Given the description of an element on the screen output the (x, y) to click on. 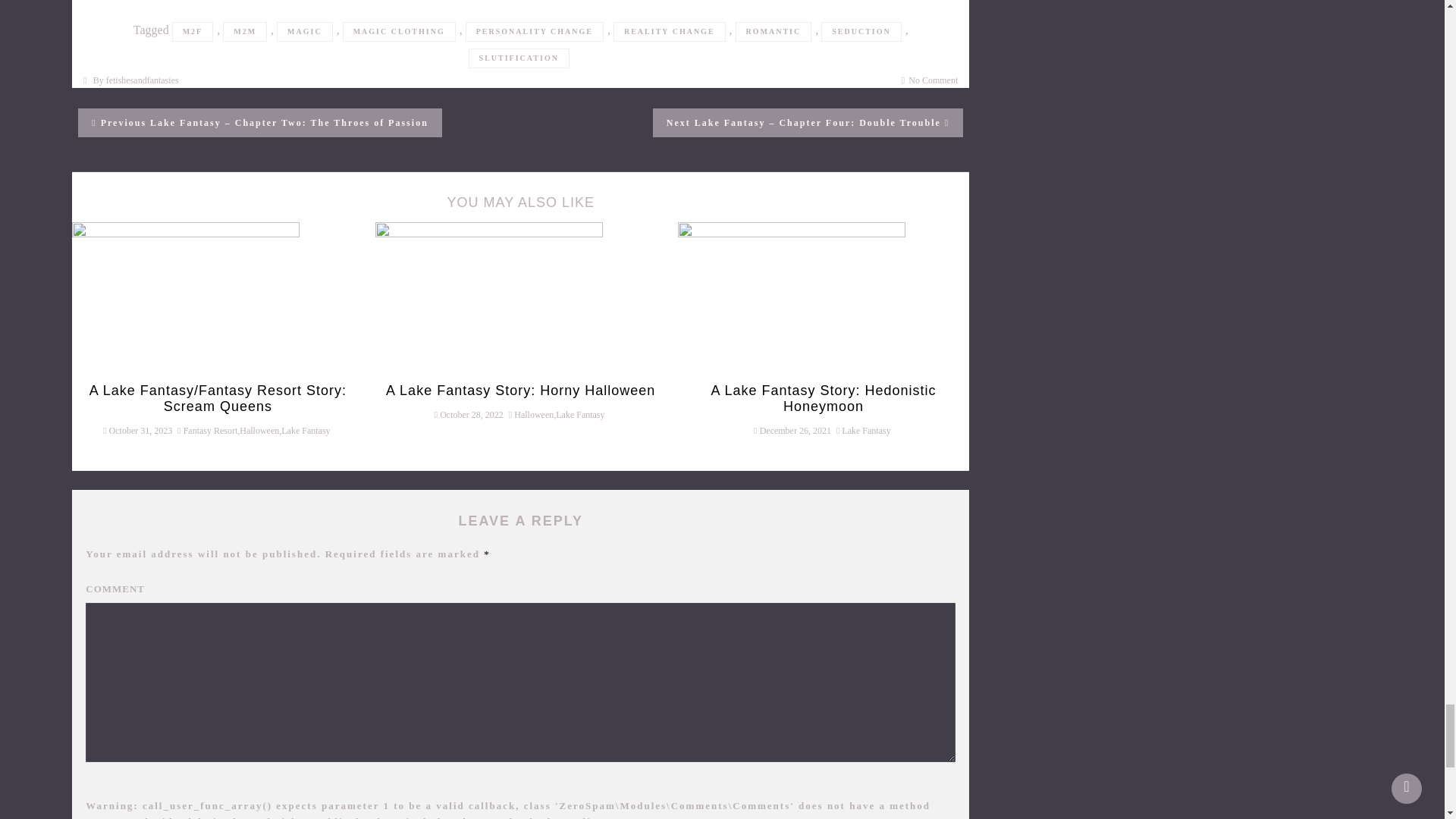
A Lake Fantasy Story: Hedonistic Honeymoon (791, 296)
A Lake Fantasy Story: Horny Halloween (488, 296)
MAGIC CLOTHING (398, 31)
M2F (192, 31)
M2M (244, 31)
ROMANTIC (773, 31)
REALITY CHANGE (668, 31)
PERSONALITY CHANGE (534, 31)
MAGIC (304, 31)
